Given the description of an element on the screen output the (x, y) to click on. 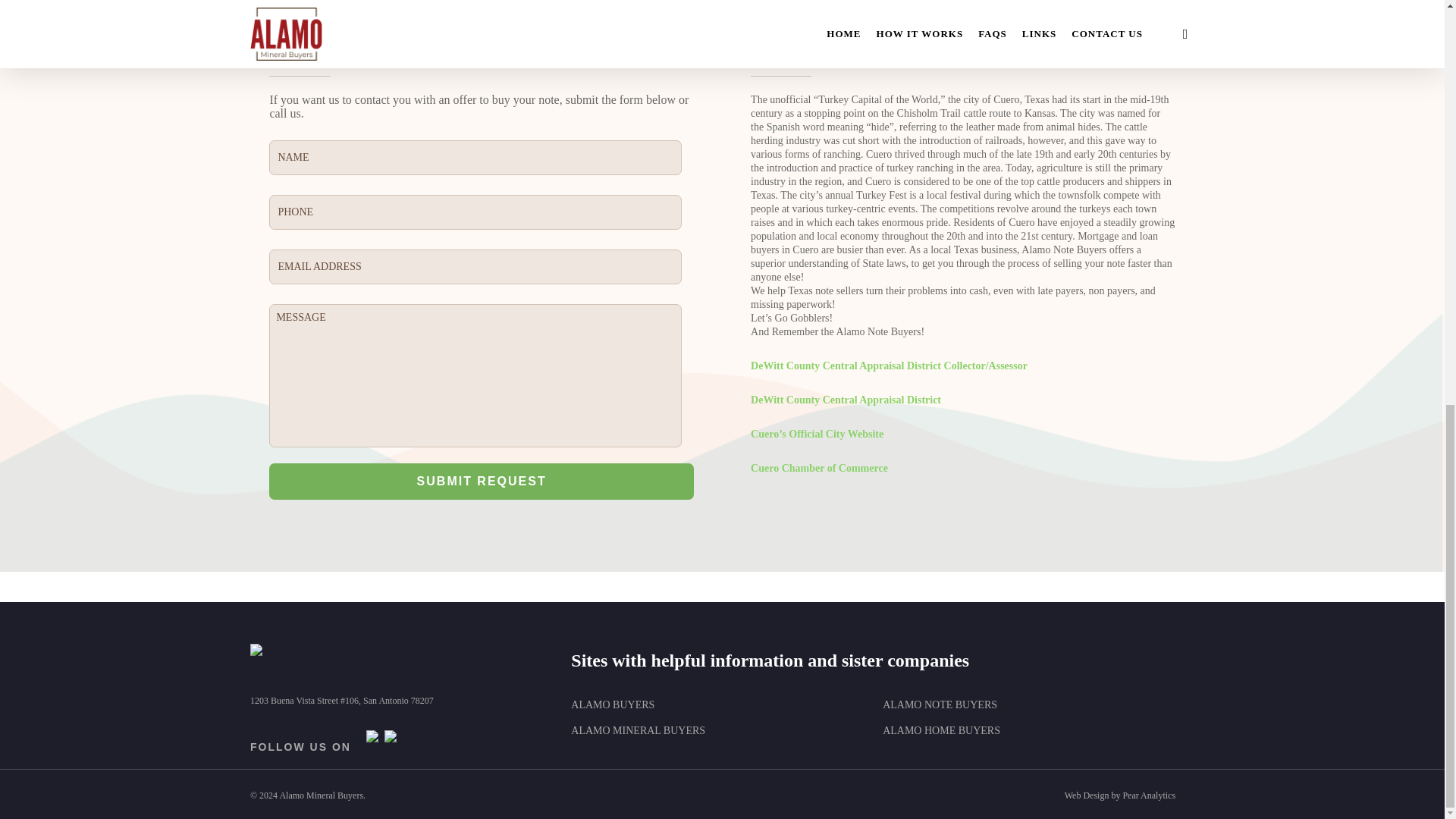
Cuero Chamber of Commerce (819, 468)
SUBMIT REQUEST (481, 481)
ALAMO MINERAL BUYERS (637, 730)
ALAMO NOTE BUYERS (939, 704)
DeWitt County Central Appraisal District (845, 399)
ALAMO HOME BUYERS (941, 730)
SUBMIT REQUEST (481, 481)
ALAMO BUYERS (611, 704)
